Given the description of an element on the screen output the (x, y) to click on. 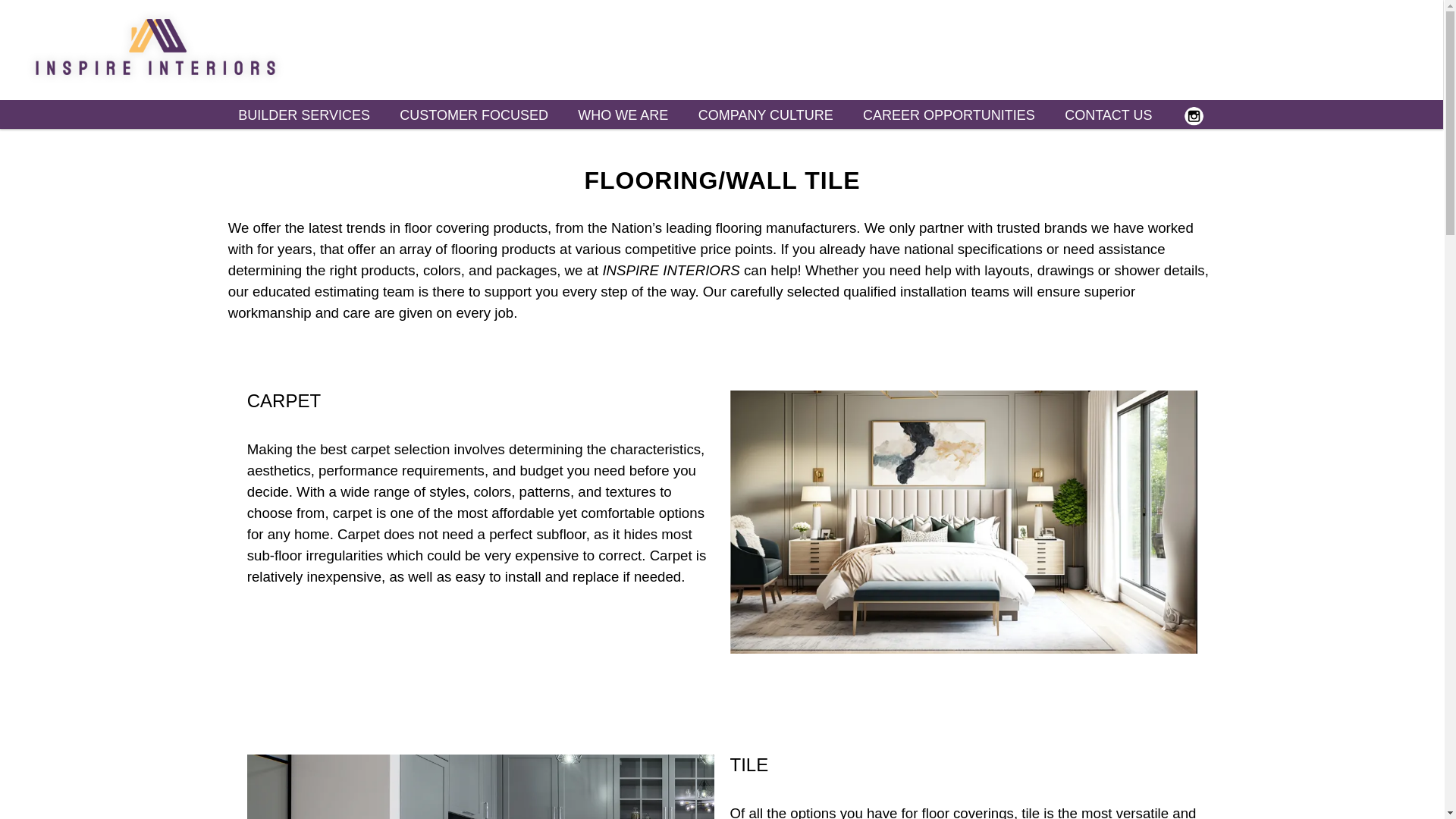
COMPANY CULTURE (765, 113)
CONTACT US (1108, 113)
BUILDER SERVICES (304, 113)
CUSTOMER FOCUSED (473, 113)
WHO WE ARE (622, 113)
CAREER OPPORTUNITIES (948, 113)
